Given the description of an element on the screen output the (x, y) to click on. 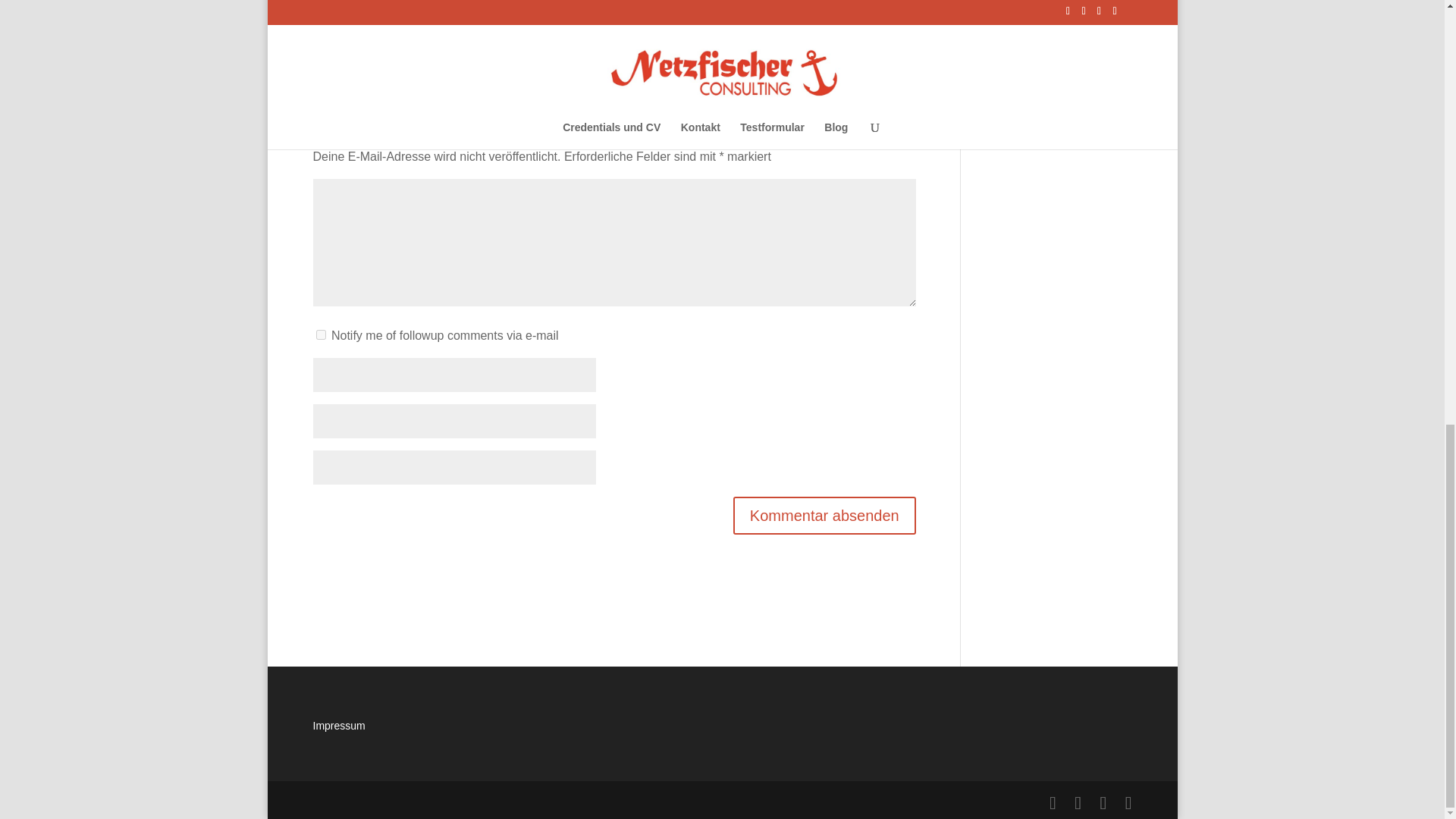
subscribe (319, 334)
Kommentar absenden (824, 515)
Kommentar absenden (824, 515)
